Given the description of an element on the screen output the (x, y) to click on. 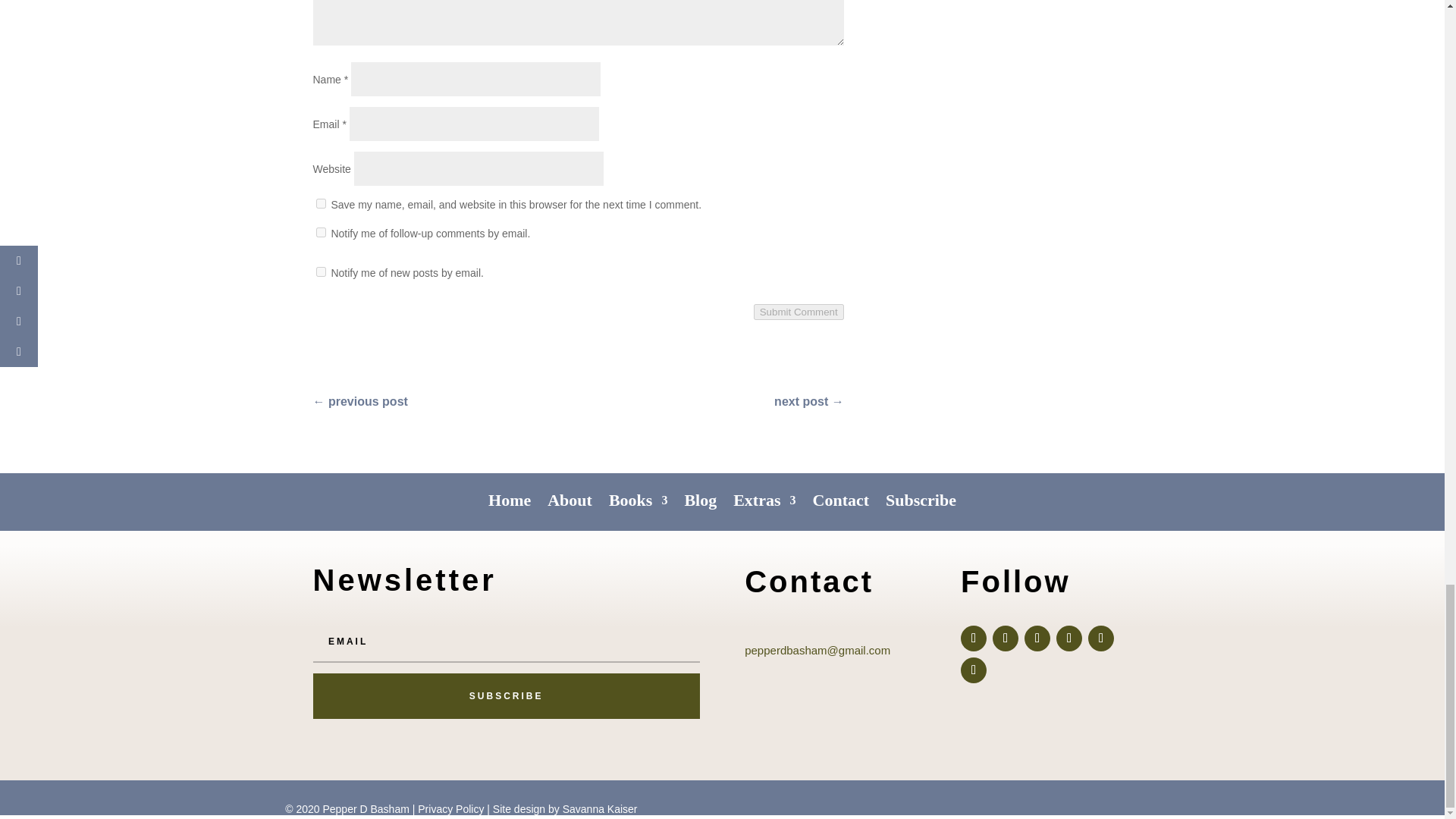
Submit Comment (799, 311)
yes (319, 203)
About (569, 489)
Books (637, 489)
subscribe (319, 271)
Home (509, 489)
subscribe (319, 232)
